Given the description of an element on the screen output the (x, y) to click on. 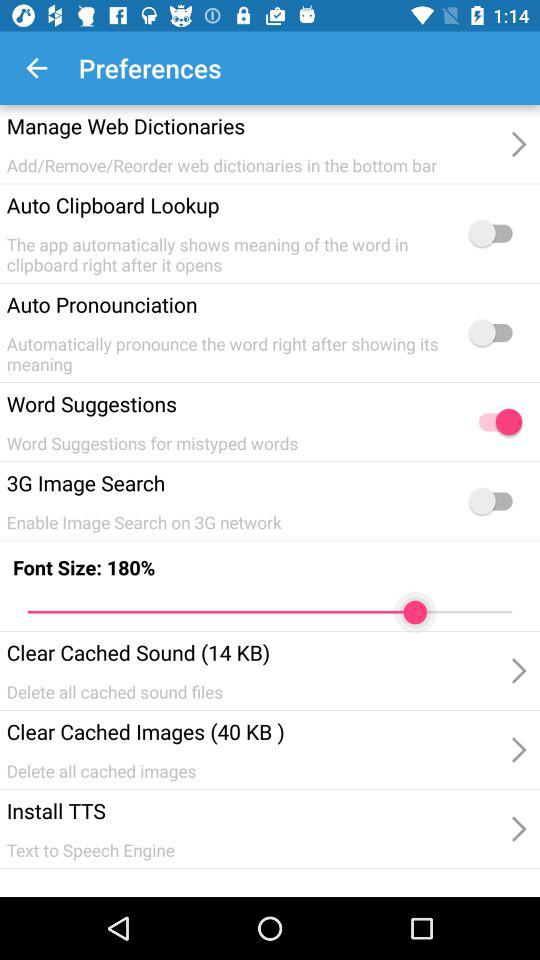
click on the second switch button from top (495, 332)
click on the arrow symbol beside the clear cached images 40 kb (517, 750)
click on the forward arrow symbol beside clear cached images 40 kb  (517, 670)
click on the first arrow head option which is beside of the manage web dictionaries (517, 144)
